Given the description of an element on the screen output the (x, y) to click on. 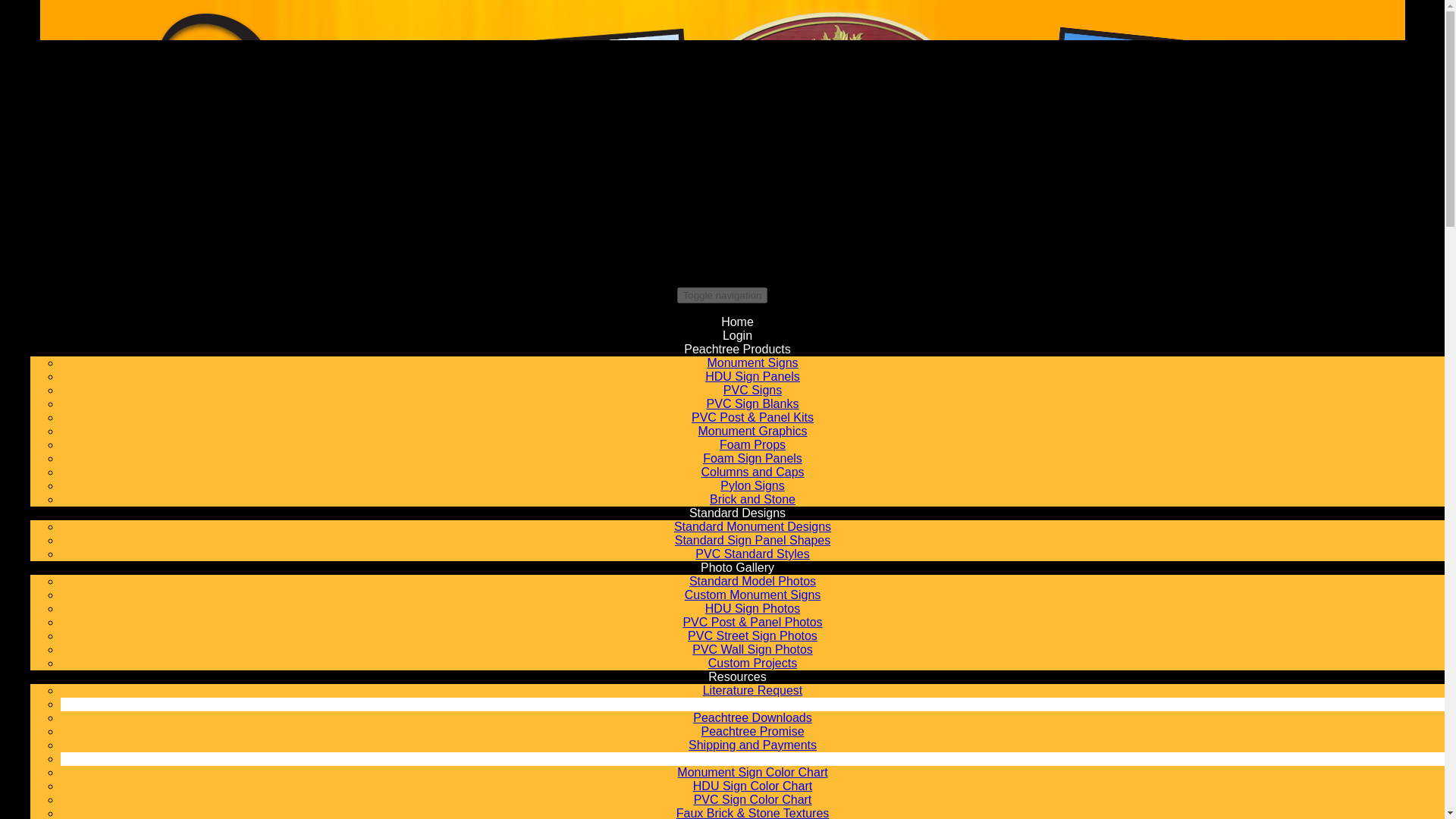
Standard Designs (737, 512)
HDU Sign Photos (751, 608)
Shipping and Payments (752, 744)
Photo Gallery (737, 567)
Peachtree Promise (751, 730)
Custom Projects (751, 662)
Peachtree Downloads (752, 717)
Monument Graphics (751, 431)
Login (737, 335)
Literature Request (753, 689)
Resources (736, 676)
HDU Sign Panels (751, 376)
PVC Wall Sign Photos (752, 649)
Monument Sign Color Chart (752, 771)
PVC Sign Color Chart (753, 799)
